Given the description of an element on the screen output the (x, y) to click on. 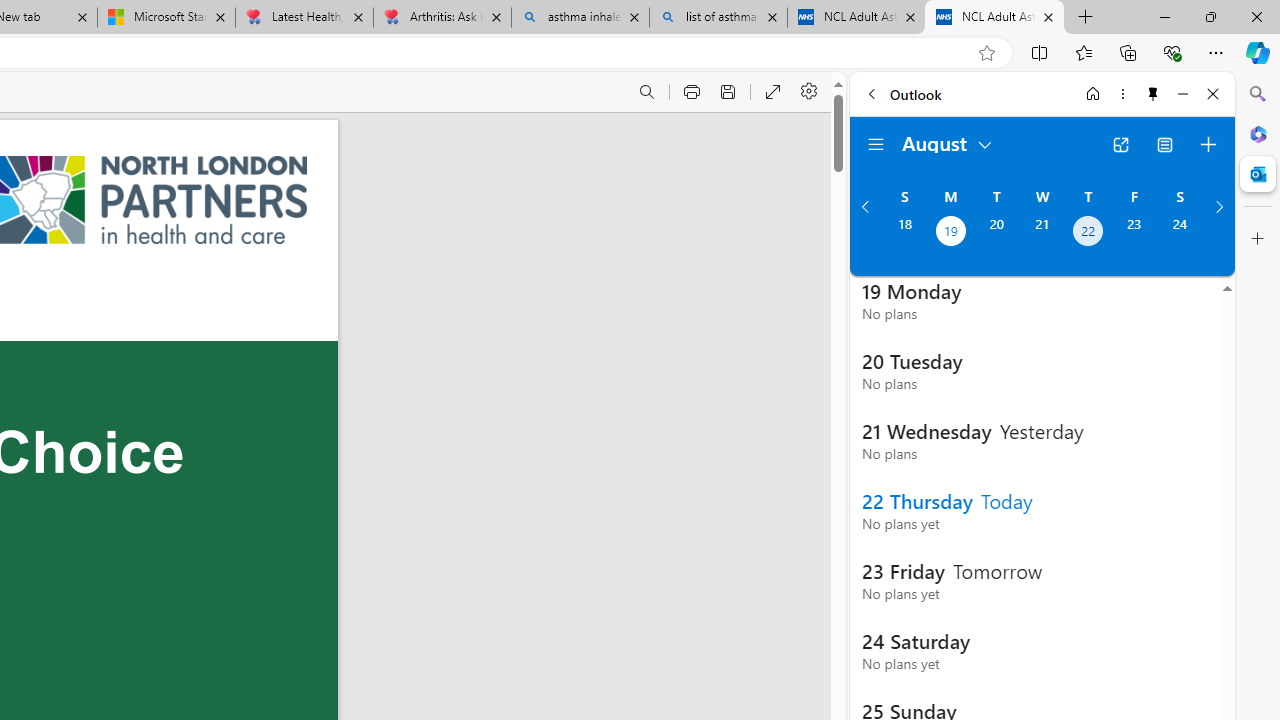
Tuesday, August 20, 2024.  (996, 233)
Settings and more (809, 92)
Create event (1208, 144)
Friday, August 23, 2024.  (1134, 233)
